Given the description of an element on the screen output the (x, y) to click on. 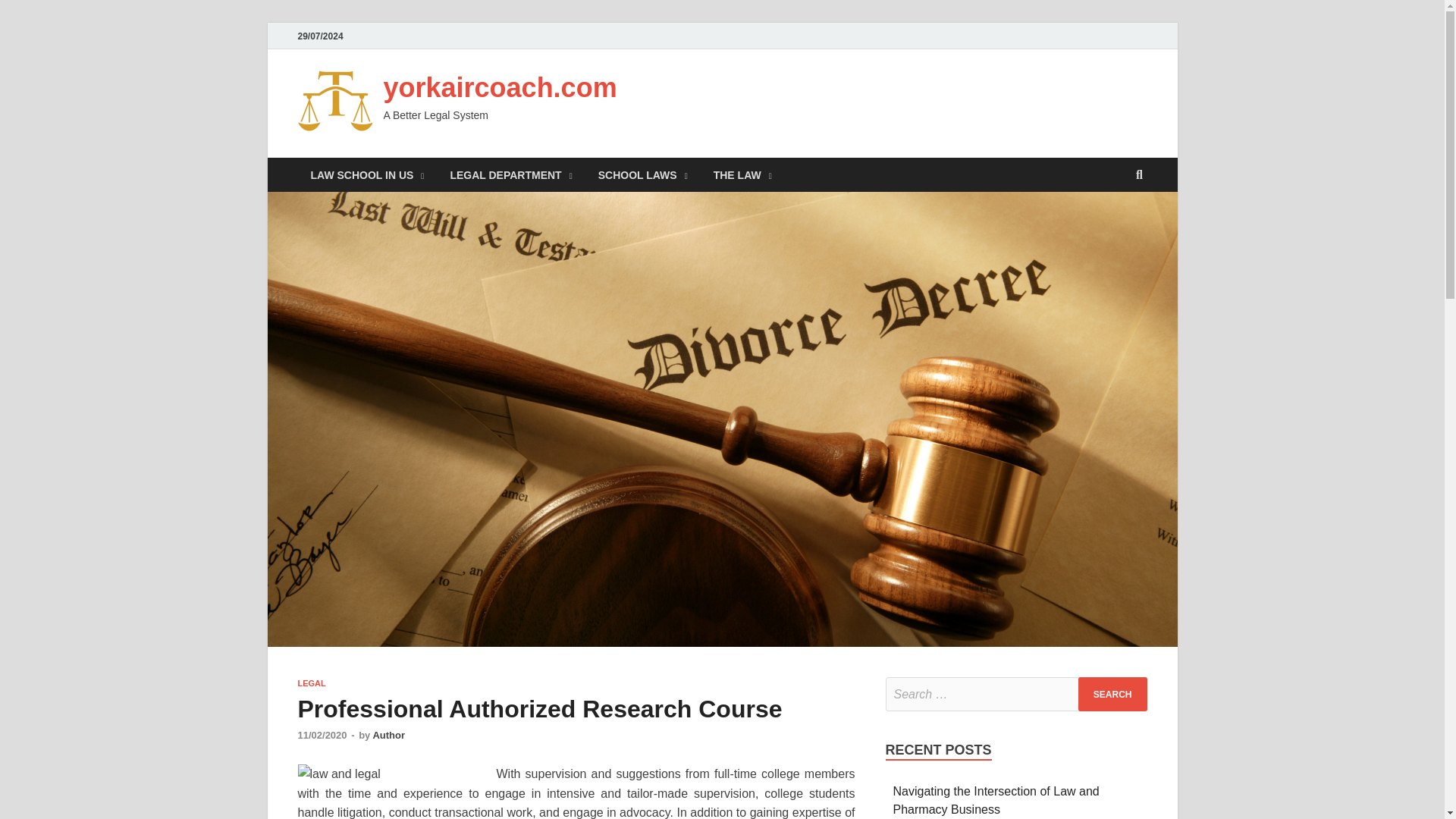
LEGAL DEPARTMENT (510, 174)
yorkaircoach.com (500, 87)
Search (1112, 694)
THE LAW (742, 174)
Search (1112, 694)
LAW SCHOOL IN US (366, 174)
SCHOOL LAWS (642, 174)
